Given the description of an element on the screen output the (x, y) to click on. 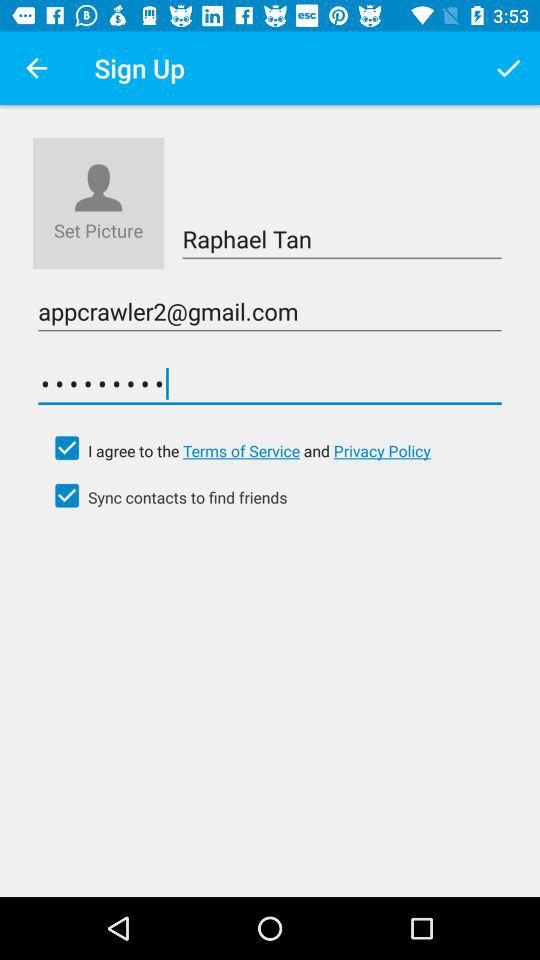
do n't agree to terms of service (67, 448)
